Given the description of an element on the screen output the (x, y) to click on. 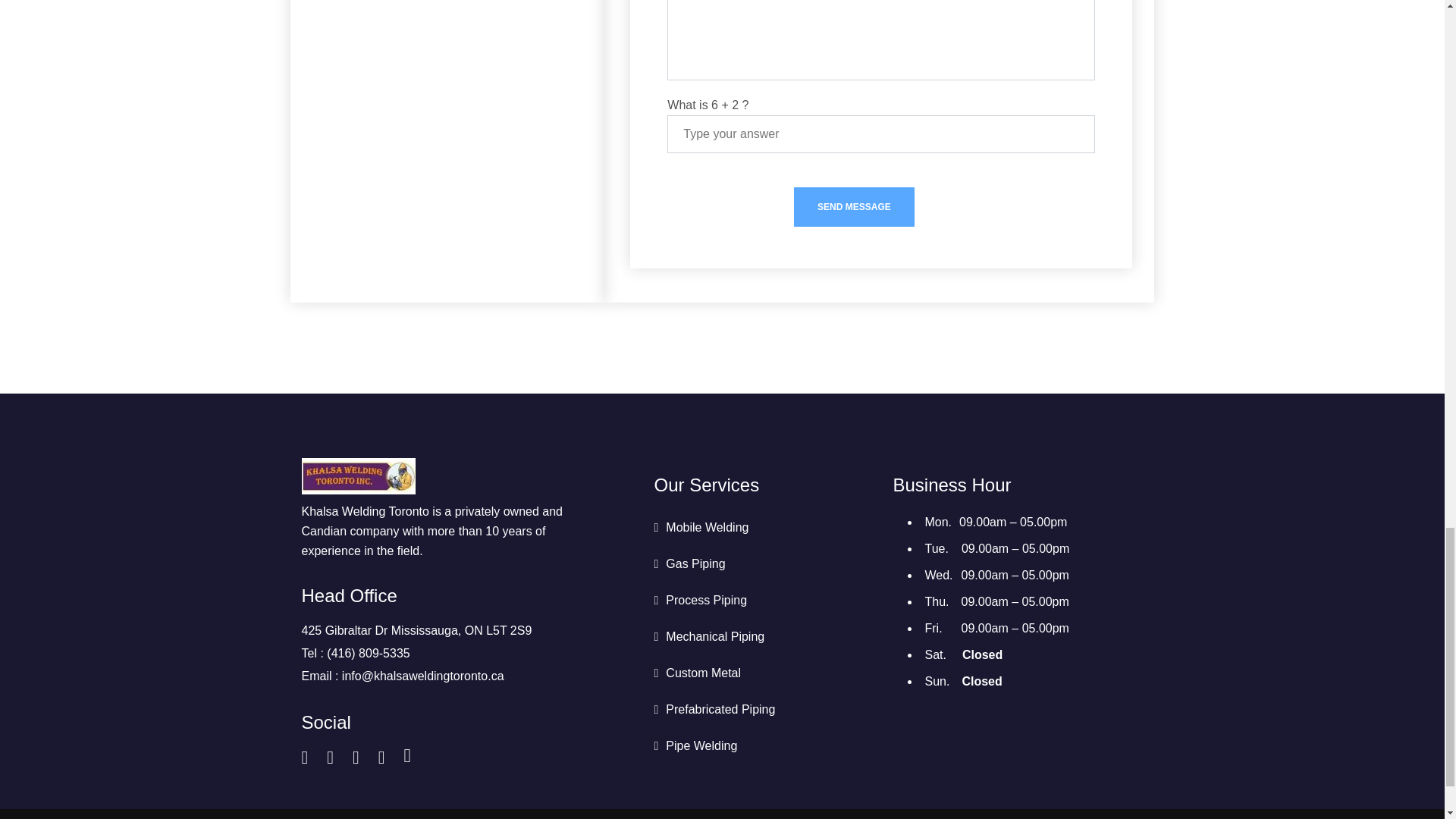
Send Message (853, 206)
425 Gibraltar Dr Mississauga, ON L5T 2S9 (416, 630)
Send Message (853, 206)
